Given the description of an element on the screen output the (x, y) to click on. 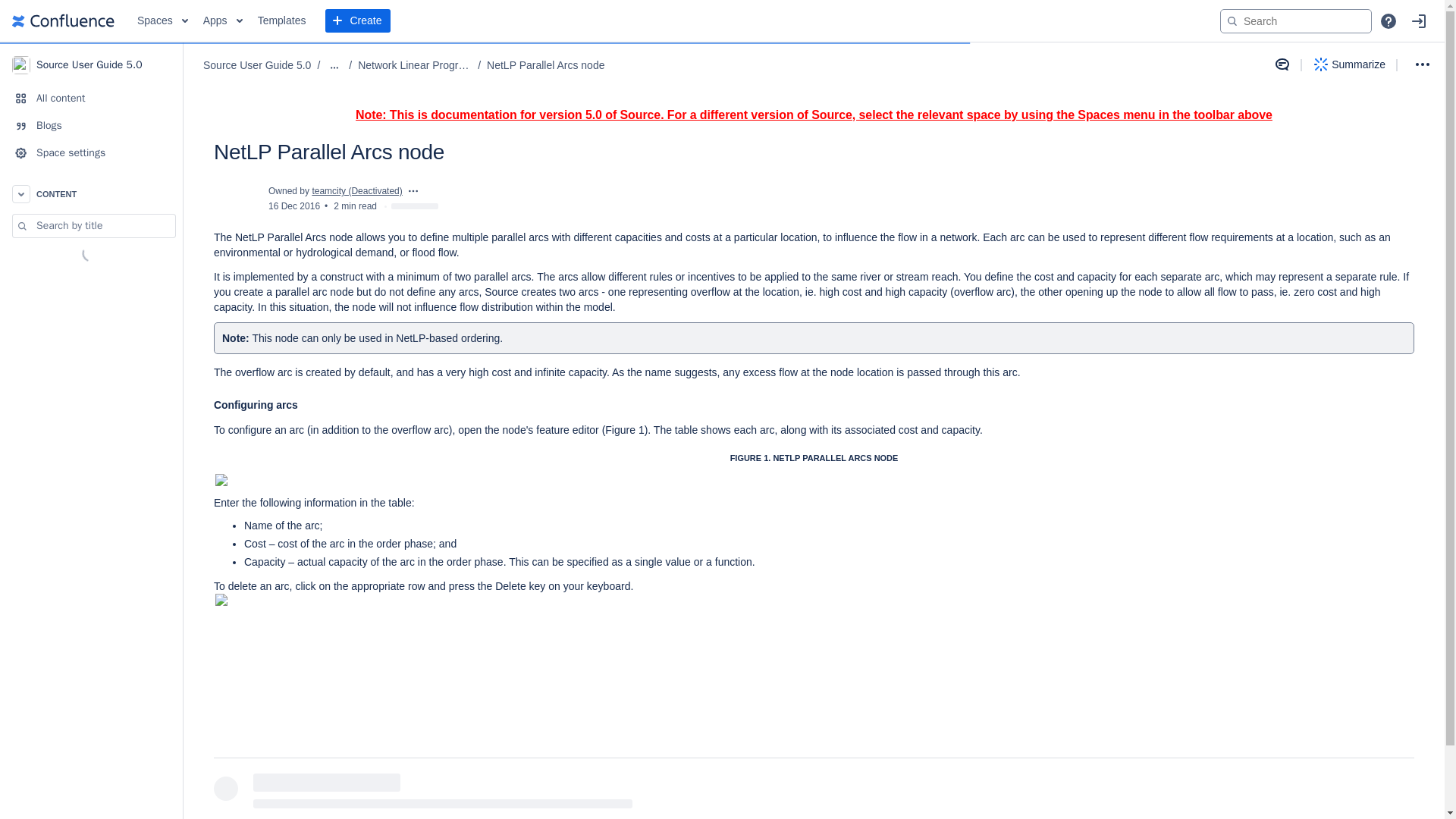
Source User Guide 5.0 (257, 64)
Blogs (90, 125)
Network Linear Programming (414, 64)
Apps (222, 21)
Spaces (162, 21)
Create (357, 21)
NetLP Parallel Arcs node (545, 64)
Summarize (1349, 64)
All content (90, 98)
Space settings (90, 153)
